Given the description of an element on the screen output the (x, y) to click on. 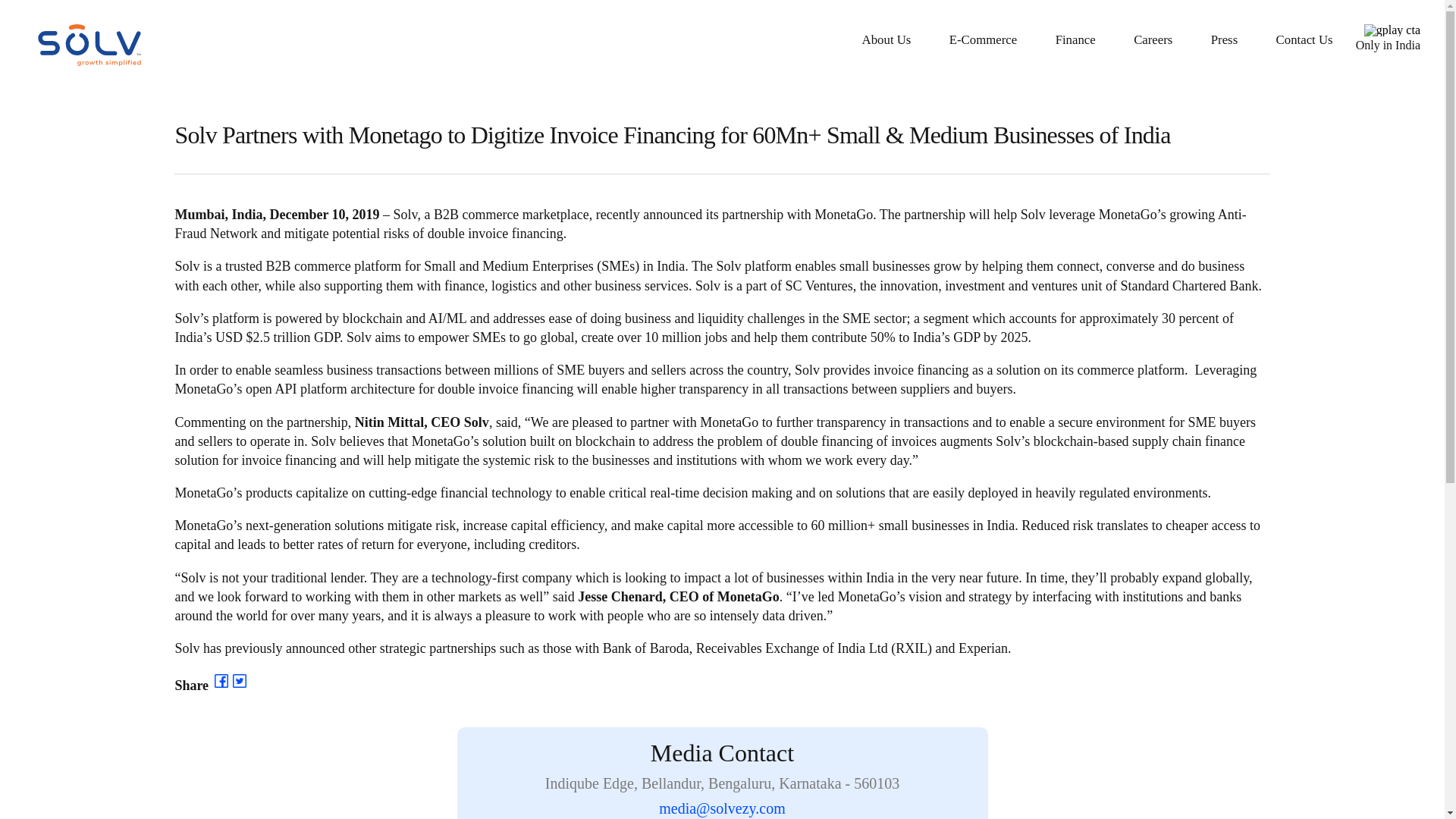
Careers (1153, 40)
Only in India (1386, 37)
About Us (886, 40)
Finance (1075, 40)
Contact Us (1304, 40)
E-Commerce (982, 40)
